Given the description of an element on the screen output the (x, y) to click on. 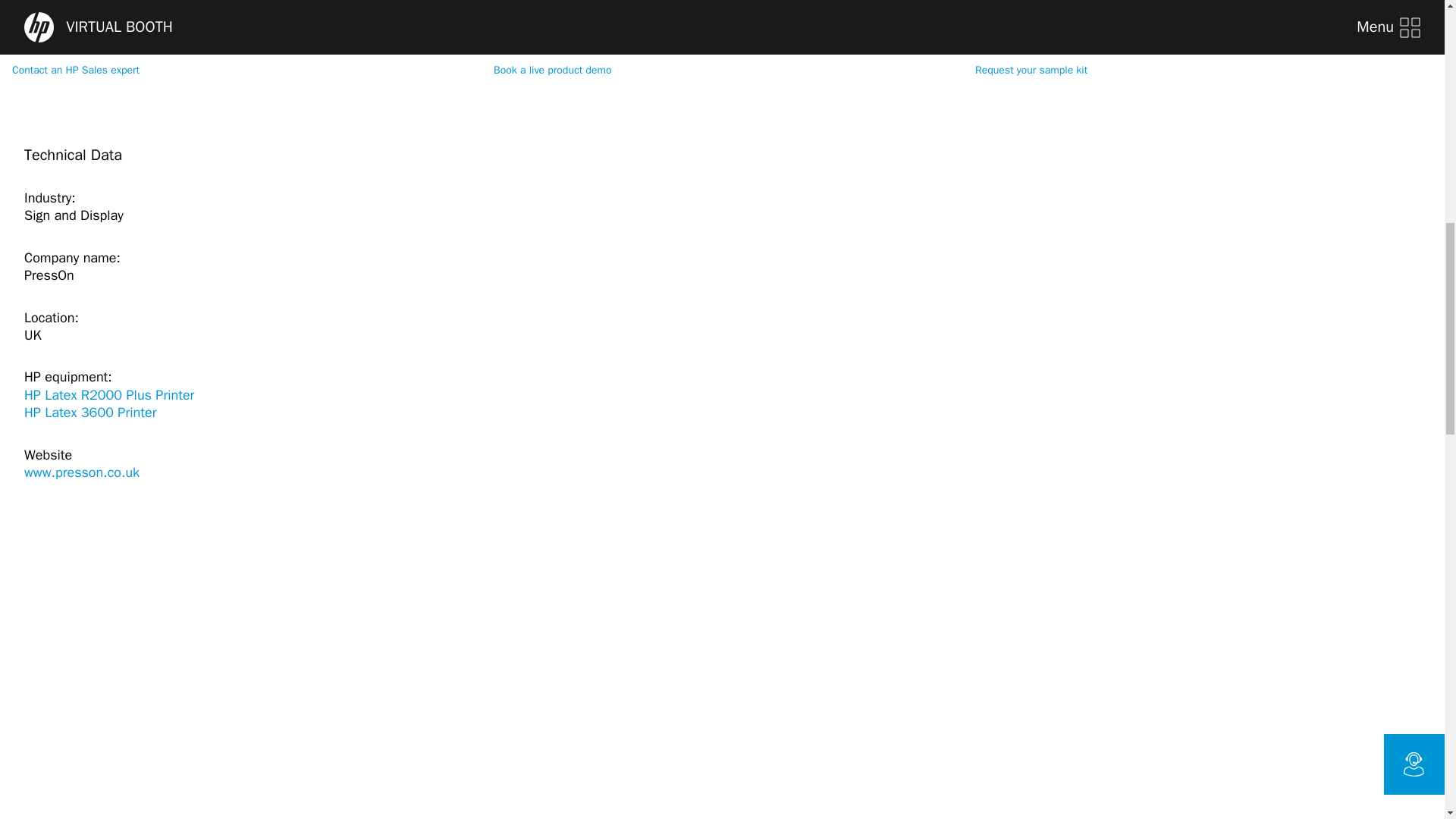
www.presson.co.uk (81, 231)
HP Latex 3600 Printer (132, 171)
HP Latex R2000 Plus Printer (132, 154)
